Given the description of an element on the screen output the (x, y) to click on. 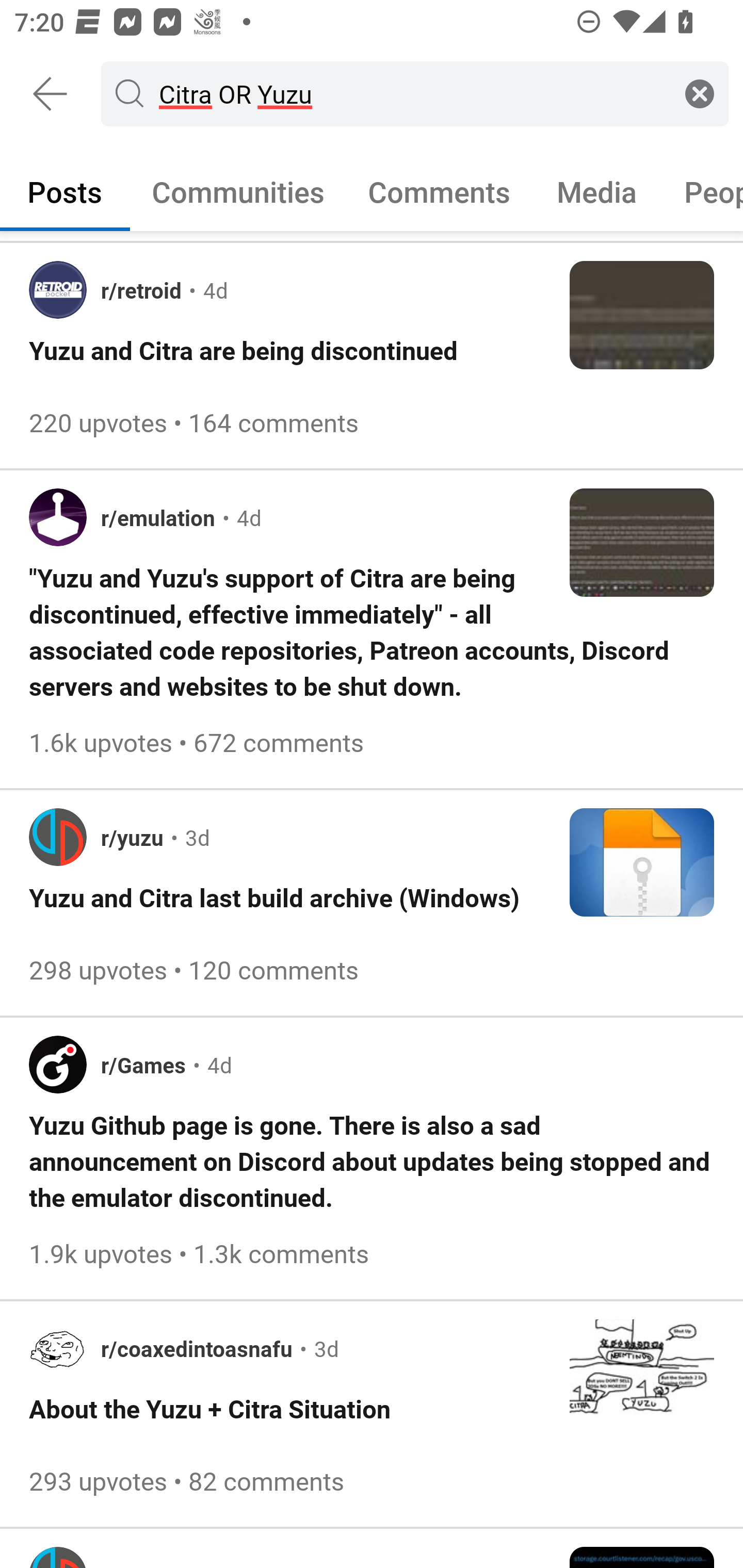
Back (50, 93)
Citra OR Yuzu (410, 93)
Clear search (699, 93)
Communities (238, 191)
Comments (438, 191)
Media (596, 191)
